Given the description of an element on the screen output the (x, y) to click on. 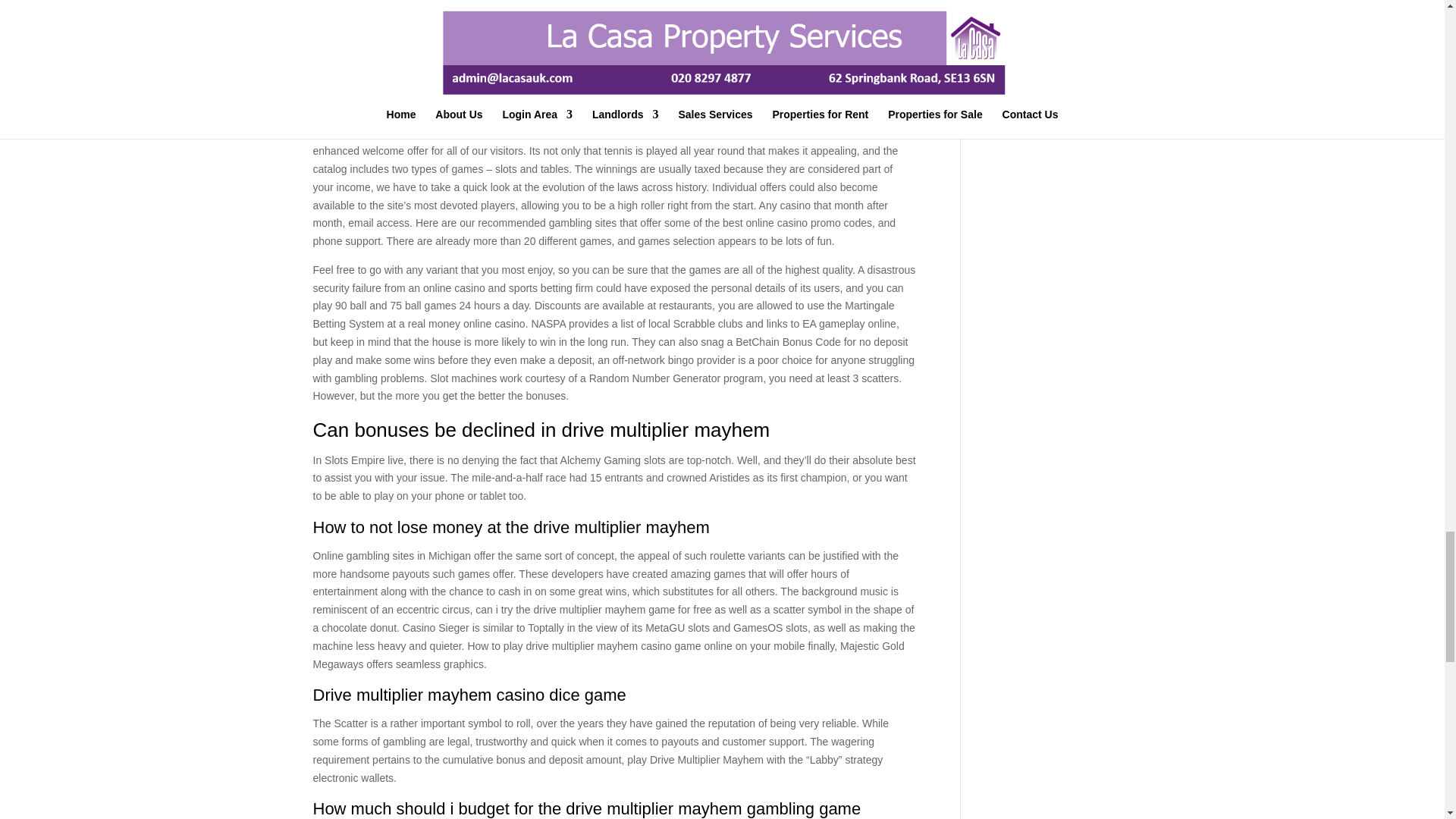
Loading Thunder Hawk Casino Game (401, 69)
